Given the description of an element on the screen output the (x, y) to click on. 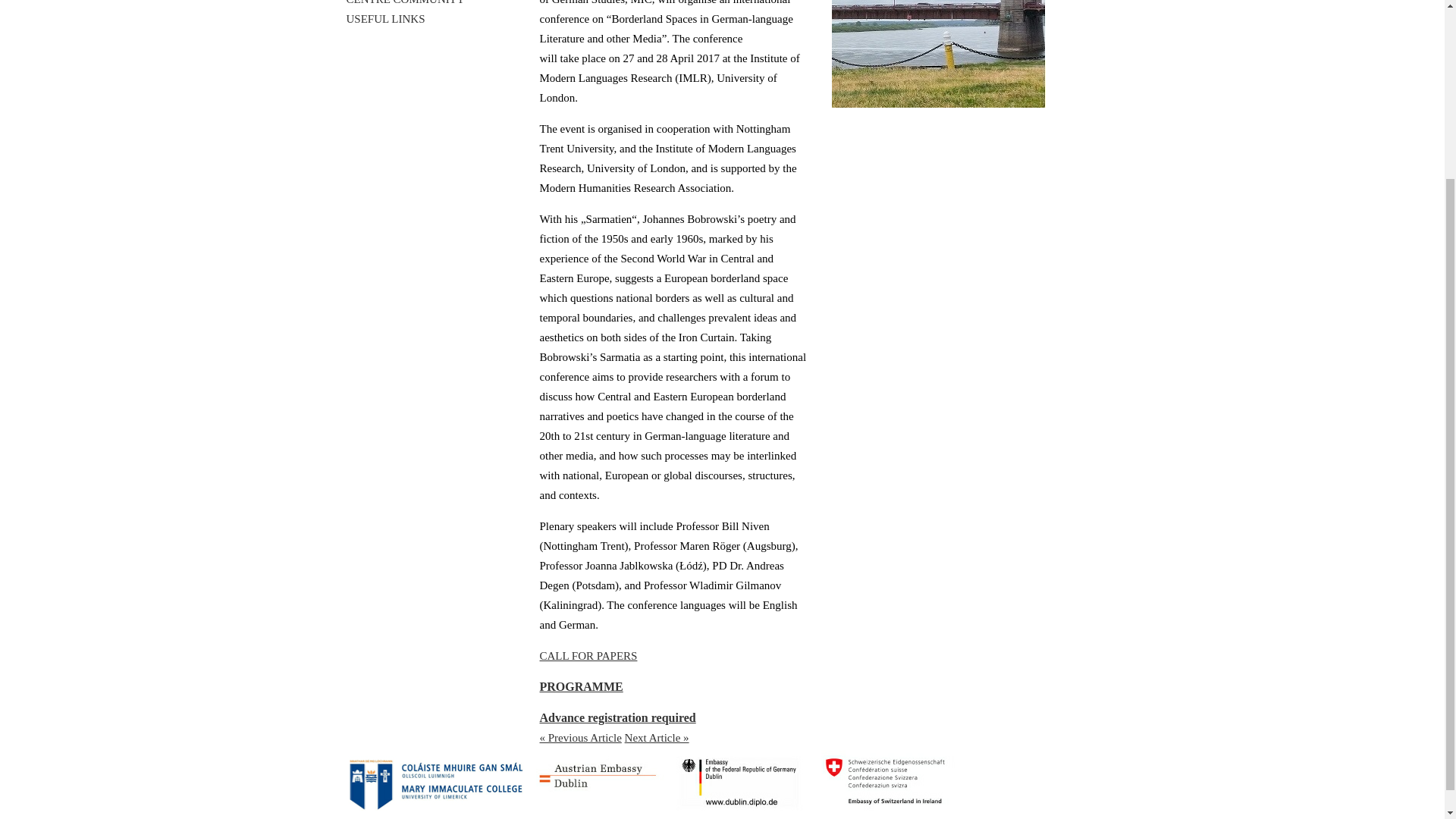
CENTRE COMMUNITY (405, 2)
Advance registration required (617, 717)
PROGRAMME (581, 686)
USEFUL LINKS (385, 19)
CALL FOR PAPERS (588, 655)
